Given the description of an element on the screen output the (x, y) to click on. 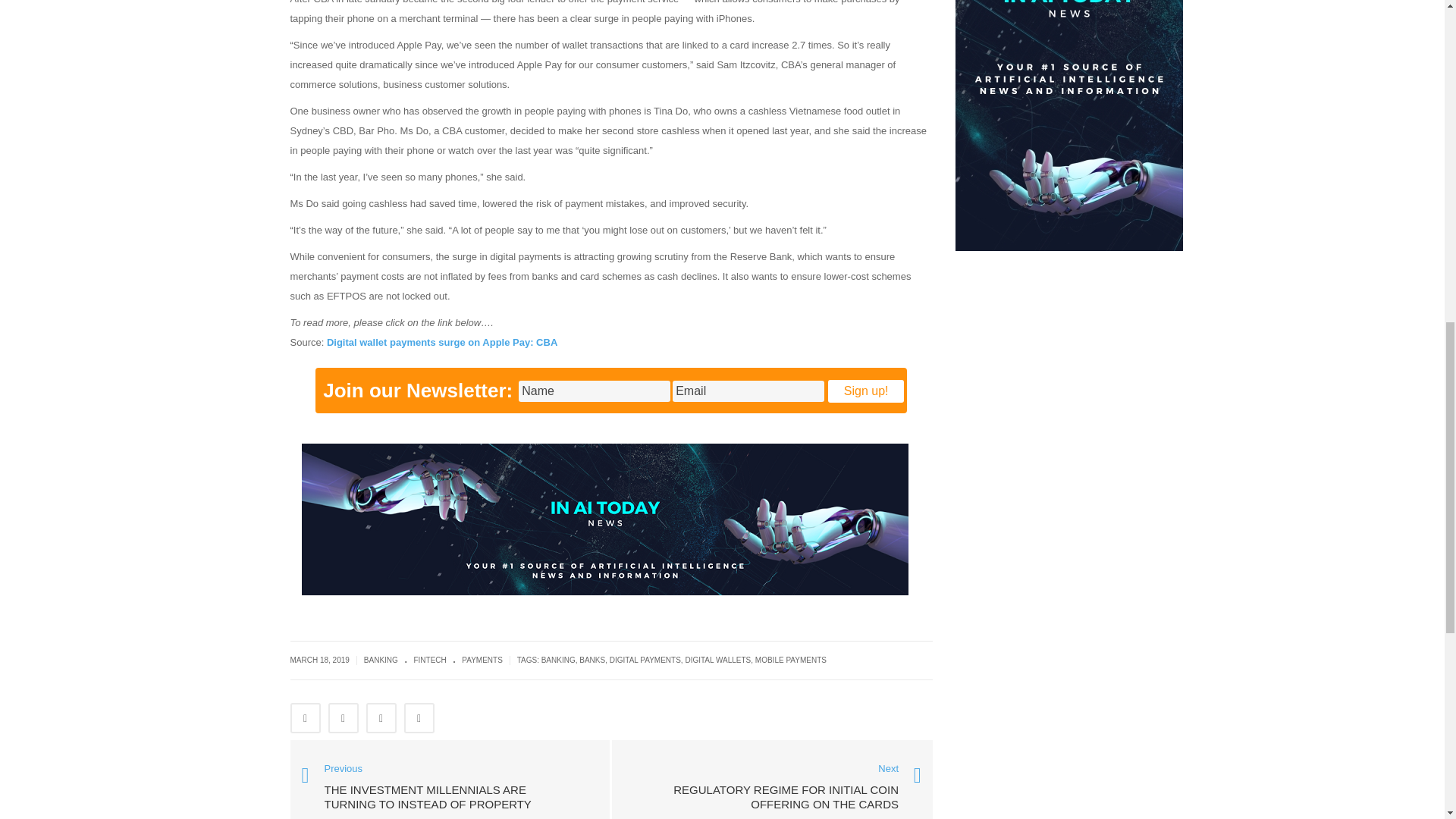
BANKING (380, 660)
Share on LinkedIn (380, 717)
Regulatory regime for initial coin offering on the cards (772, 788)
Share on Facebook (304, 717)
Share on Twitter (342, 717)
Sign up! (866, 391)
Sign up! (866, 391)
Email this (418, 717)
Digital wallet payments surge on Apple Pay: CBA (441, 342)
